Given the description of an element on the screen output the (x, y) to click on. 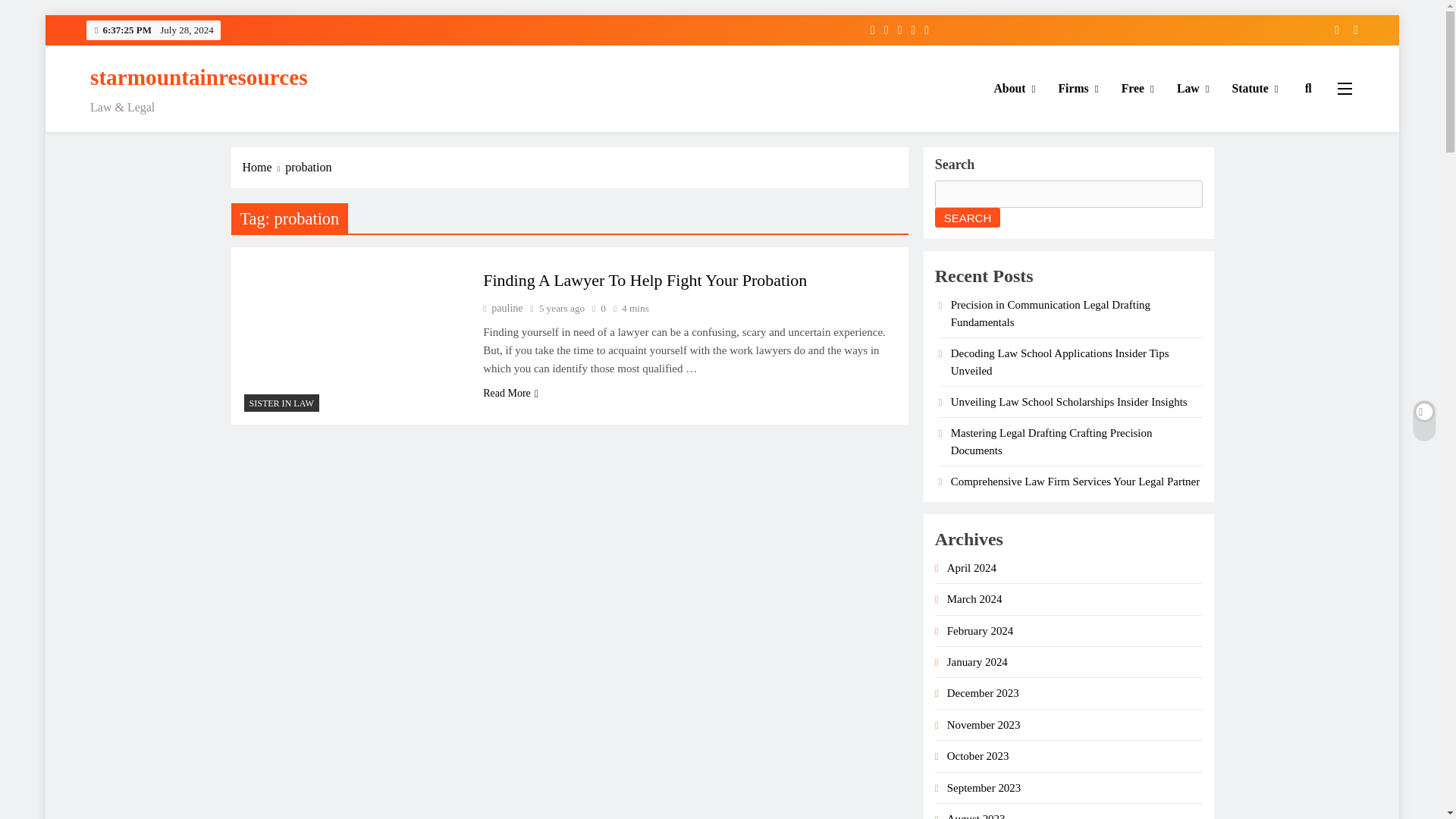
starmountainresources (198, 77)
Firms (1077, 88)
About (1014, 88)
Law (1193, 88)
Statute (1255, 88)
Free (1137, 88)
Finding A Lawyer To Help Fight Your Probation (644, 280)
